Given the description of an element on the screen output the (x, y) to click on. 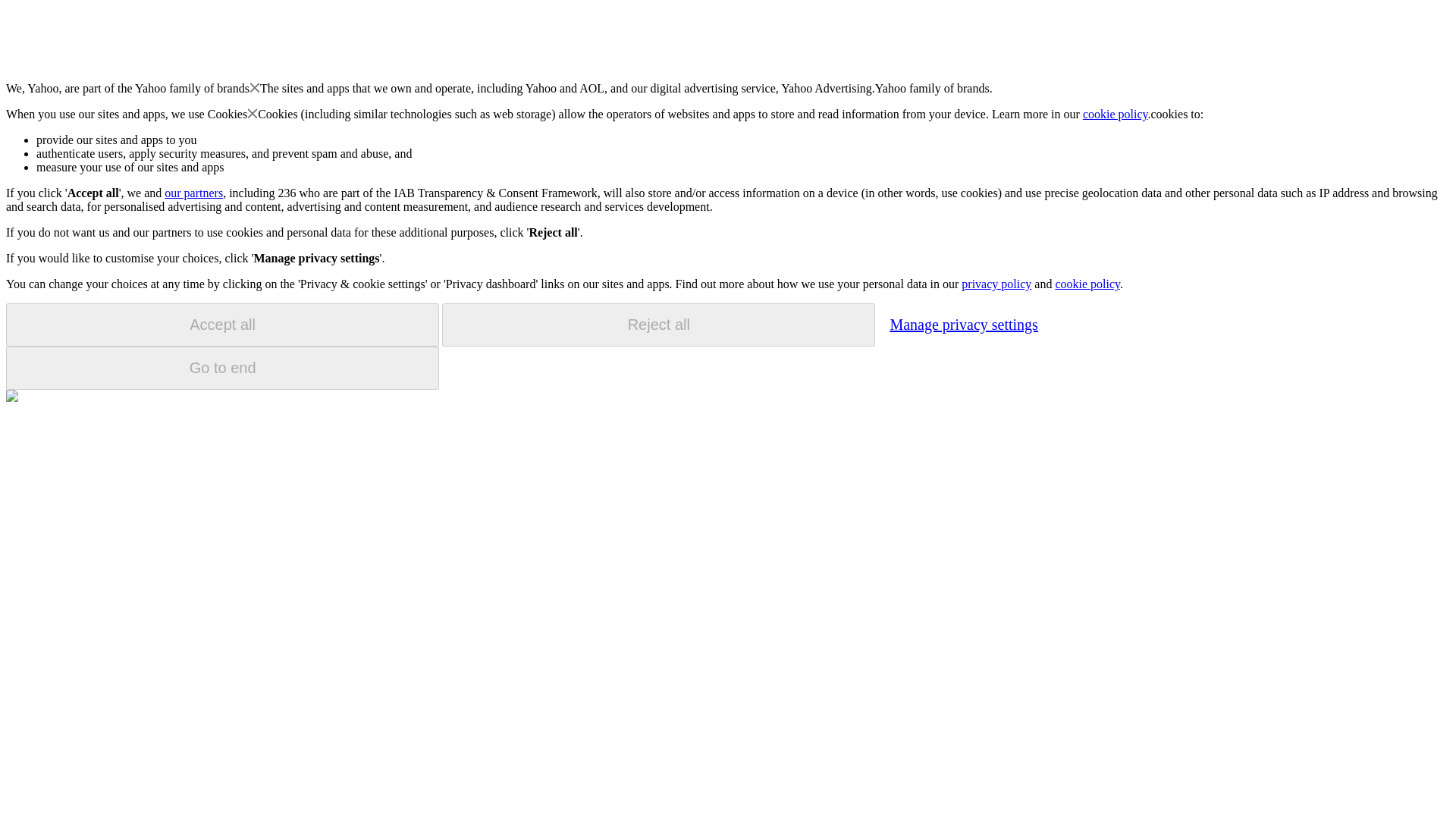
our partners (193, 192)
cookie policy (1115, 113)
Go to end (222, 367)
Reject all (658, 324)
privacy policy (995, 283)
Manage privacy settings (963, 323)
Accept all (222, 324)
cookie policy (1086, 283)
